Given the description of an element on the screen output the (x, y) to click on. 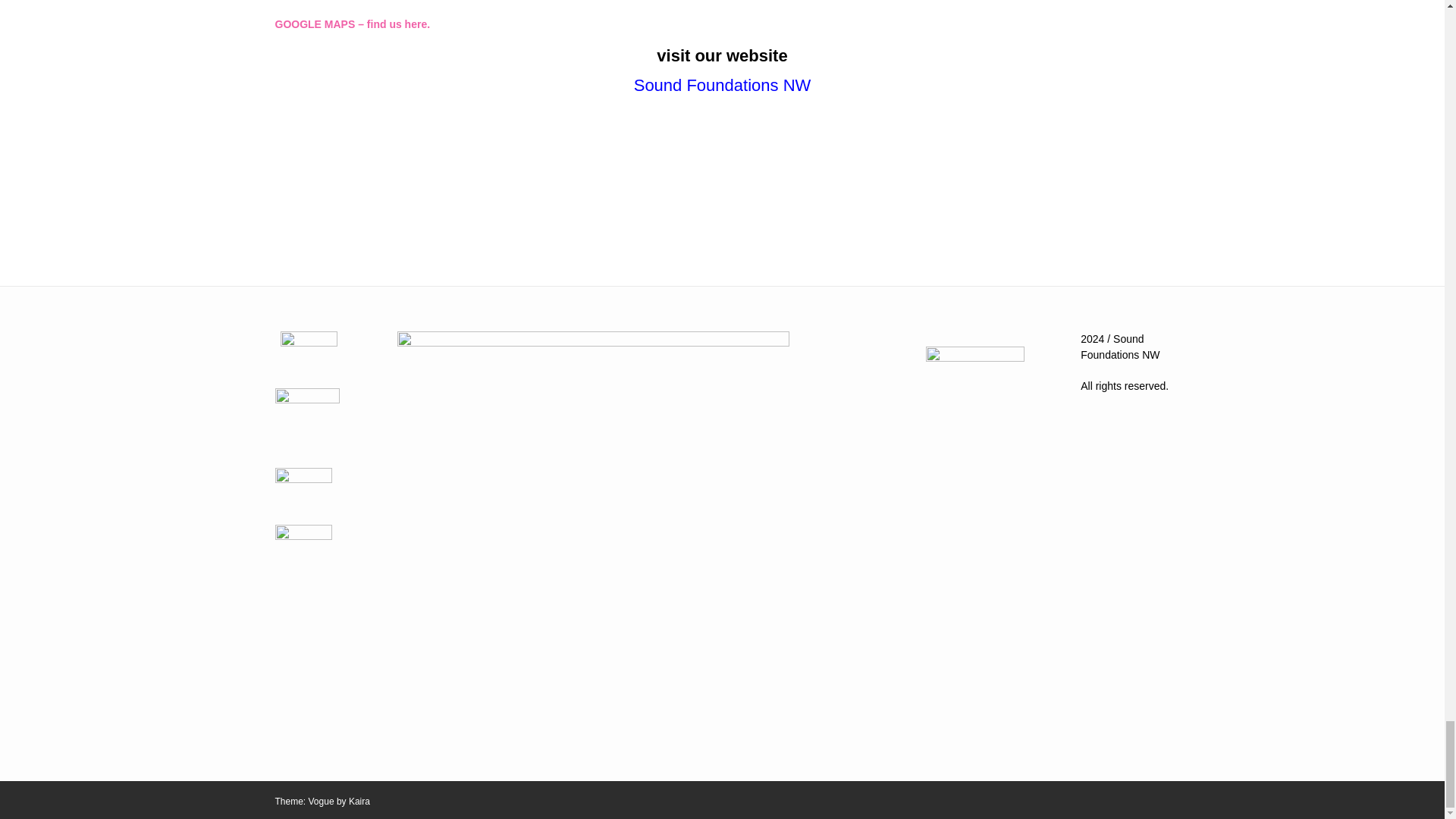
Sound Foundations NW (721, 85)
